Given the description of an element on the screen output the (x, y) to click on. 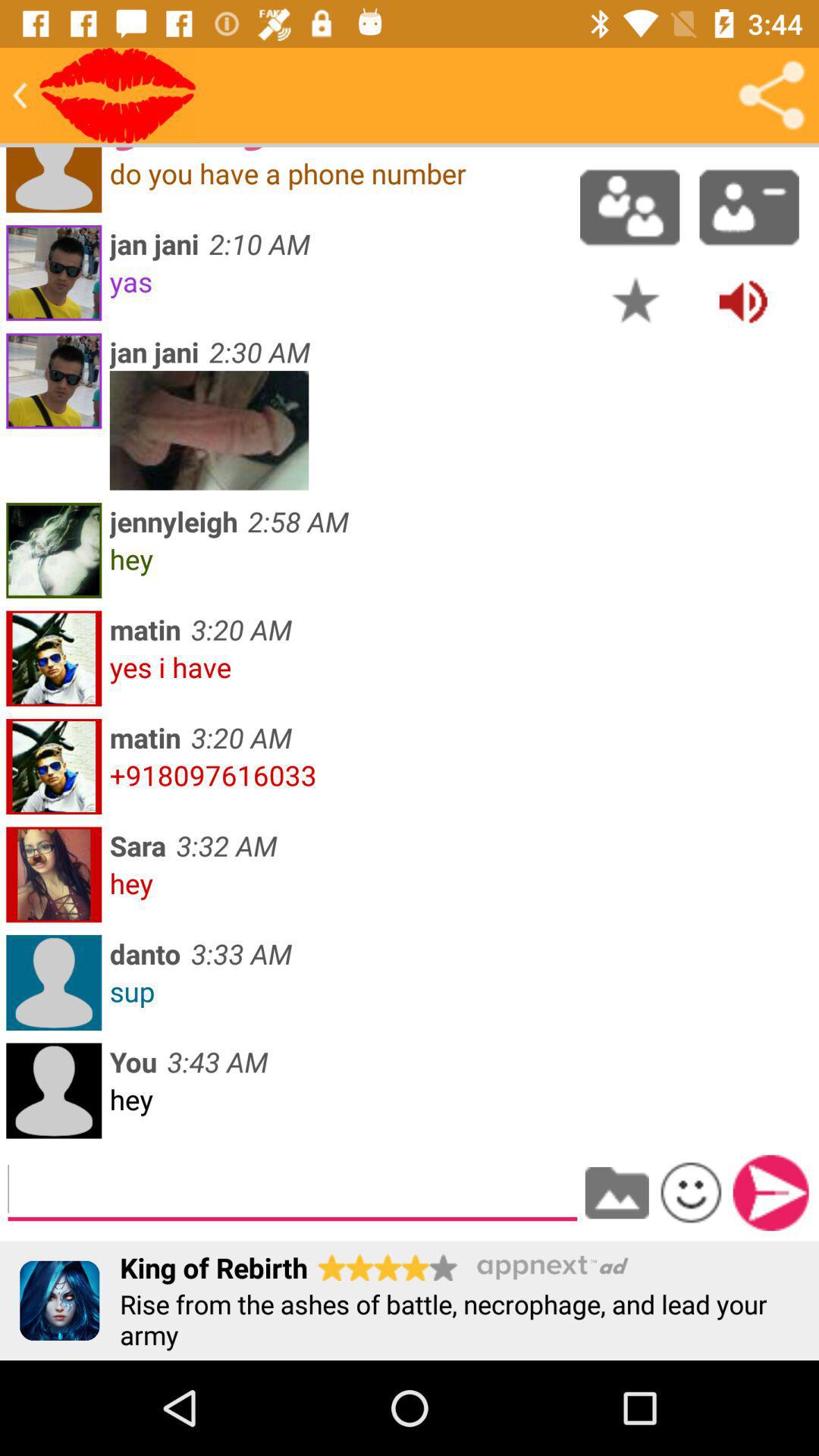
leave a message (292, 1189)
